Given the description of an element on the screen output the (x, y) to click on. 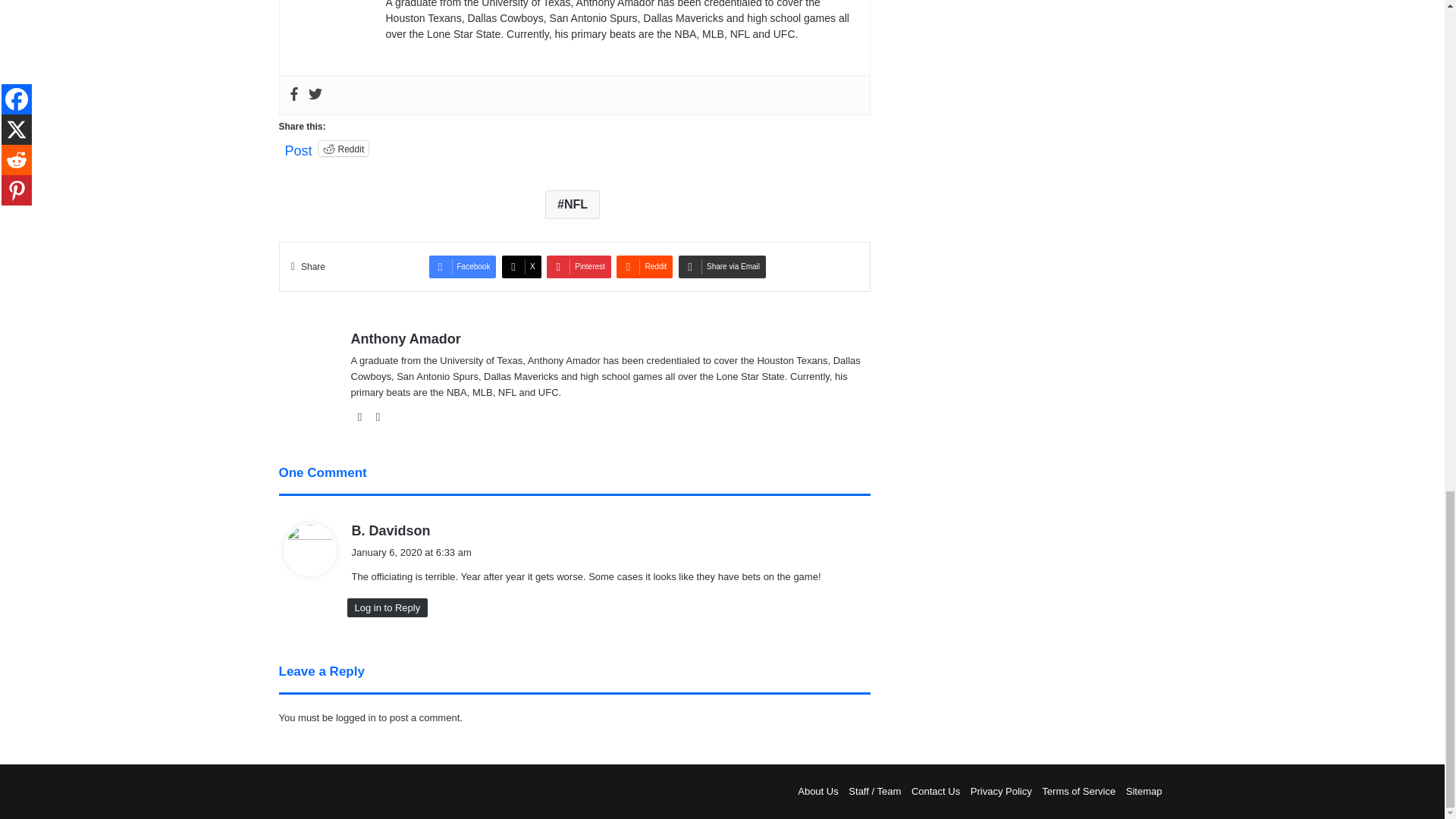
NFL (571, 204)
Reddit (343, 148)
Post (299, 147)
